Given the description of an element on the screen output the (x, y) to click on. 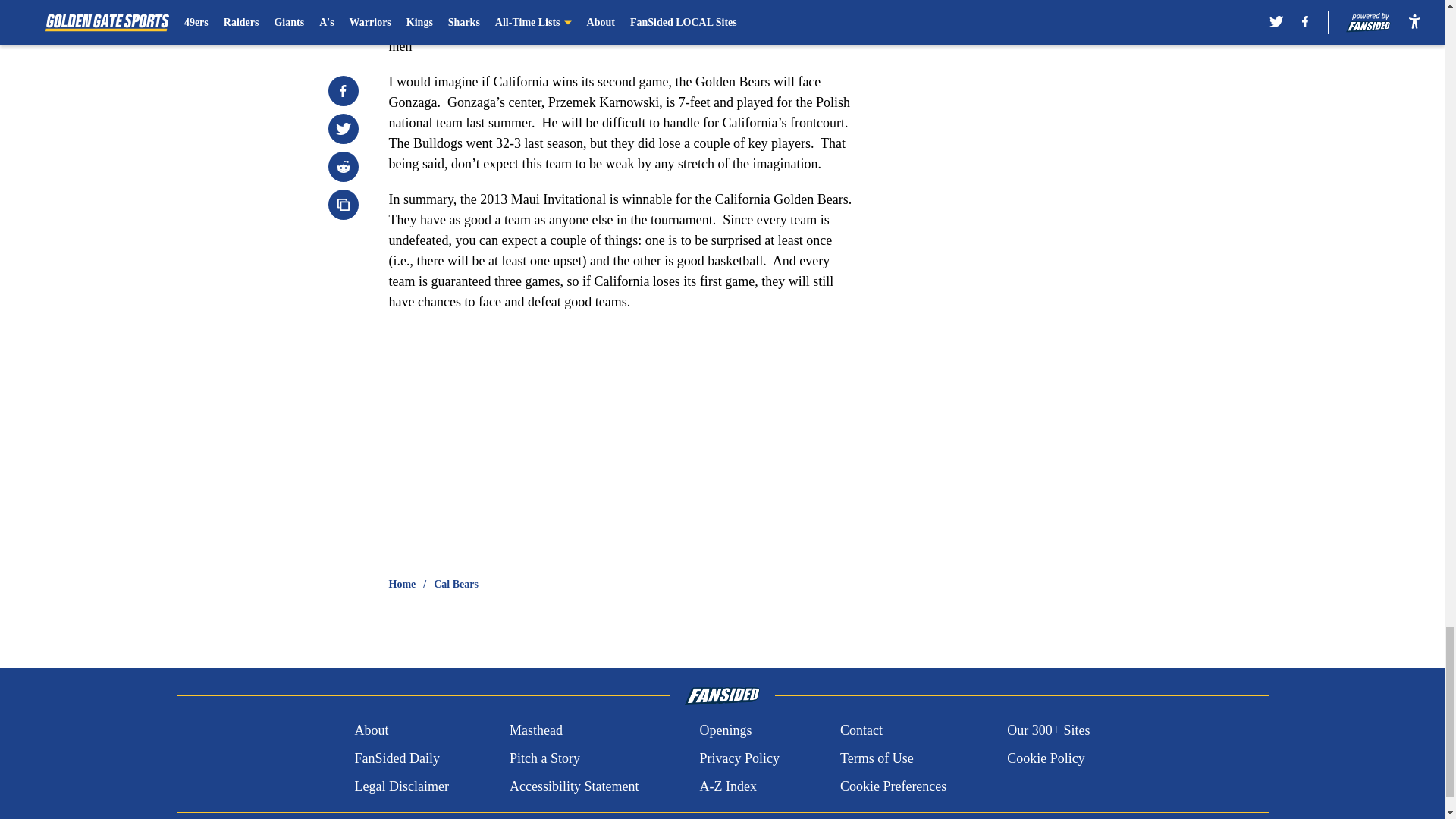
Contact (861, 730)
Cal Bears (456, 584)
Home (401, 584)
About (370, 730)
Privacy Policy (738, 758)
Openings (724, 730)
FanSided Daily (396, 758)
Pitch a Story (544, 758)
Terms of Use (877, 758)
Masthead (535, 730)
